Given the description of an element on the screen output the (x, y) to click on. 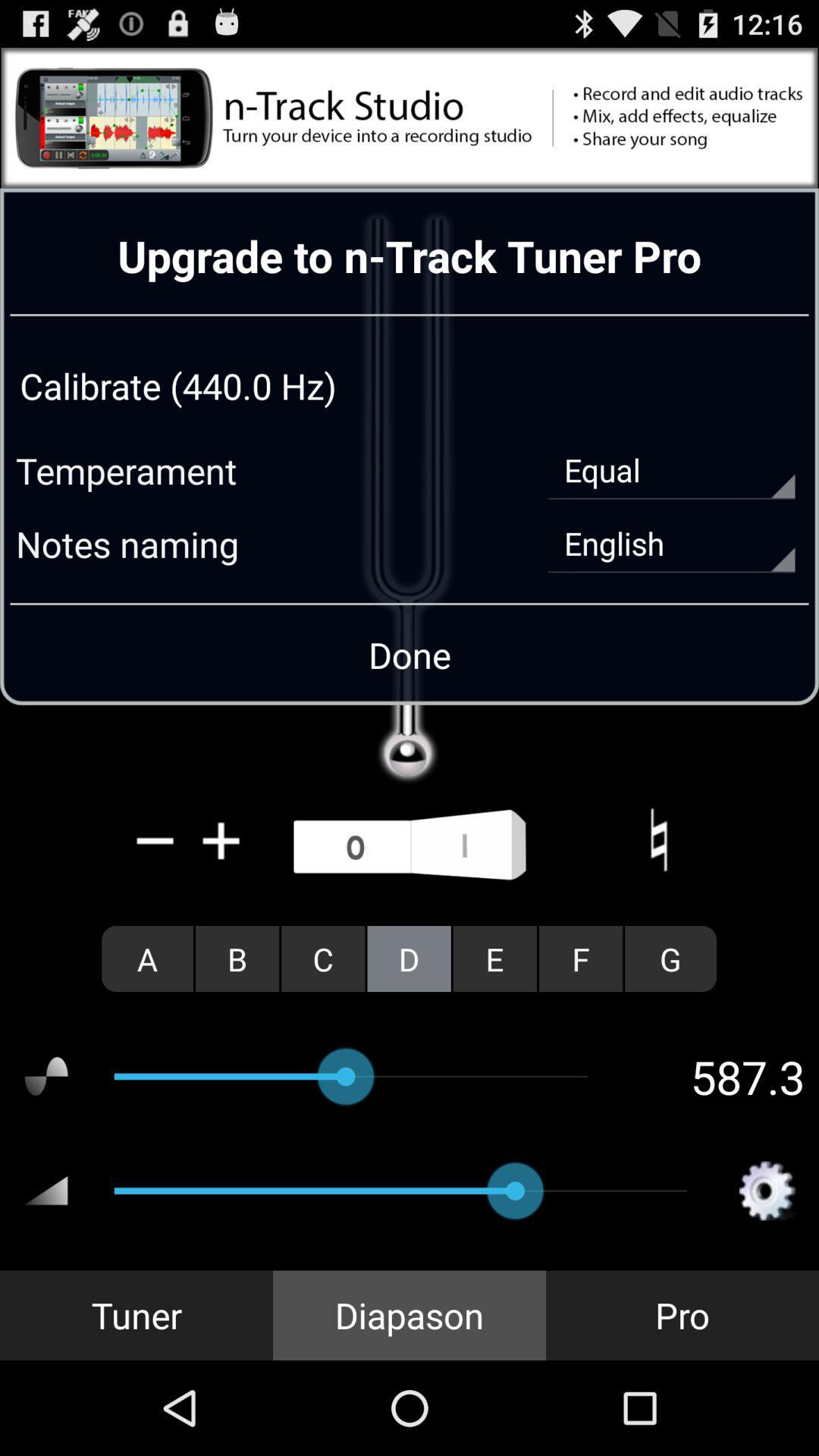
open d (409, 958)
